Given the description of an element on the screen output the (x, y) to click on. 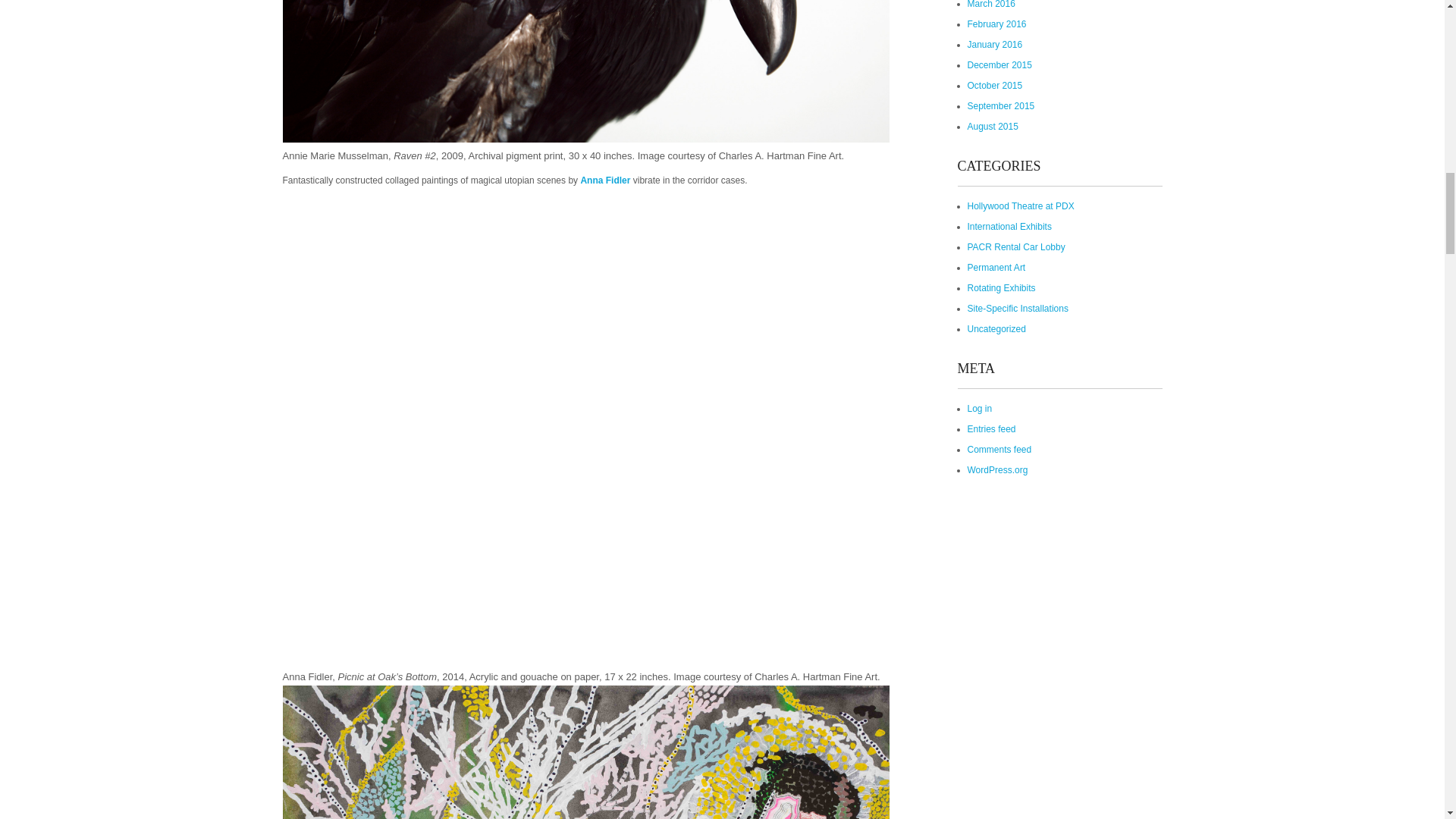
Anna Fidler (604, 180)
